Given the description of an element on the screen output the (x, y) to click on. 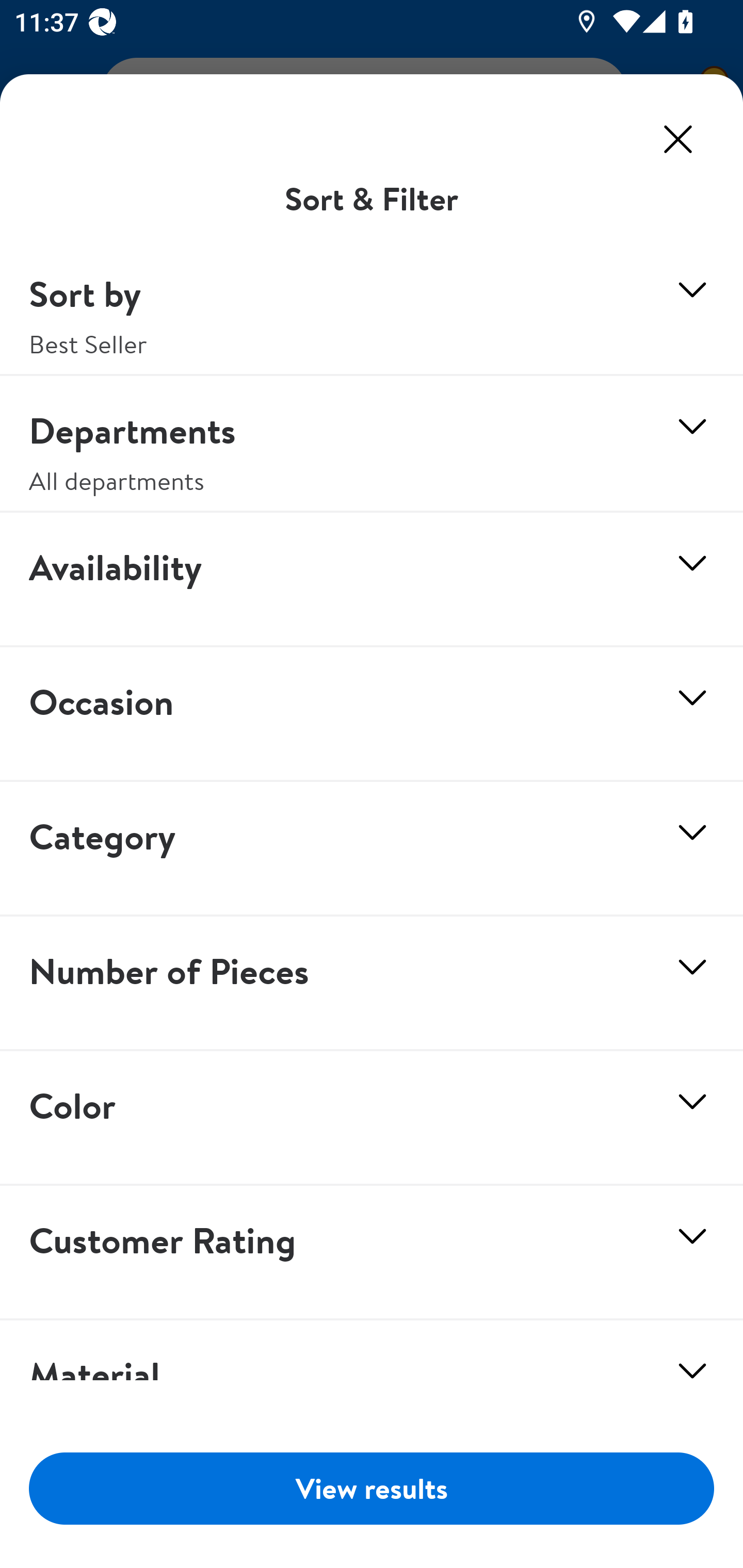
Close (677, 139)
Sort by Sort by Collapsed Best Seller Collapsed (371, 307)
Availability Availability Collapsed Collapsed (371, 579)
Occasion Occasion Collapsed Collapsed (371, 714)
Category Category Collapsed Collapsed (371, 849)
Color Color Collapsed Collapsed (371, 1117)
Material Material Collapsed Collapsed (371, 1364)
View results (371, 1487)
